Given the description of an element on the screen output the (x, y) to click on. 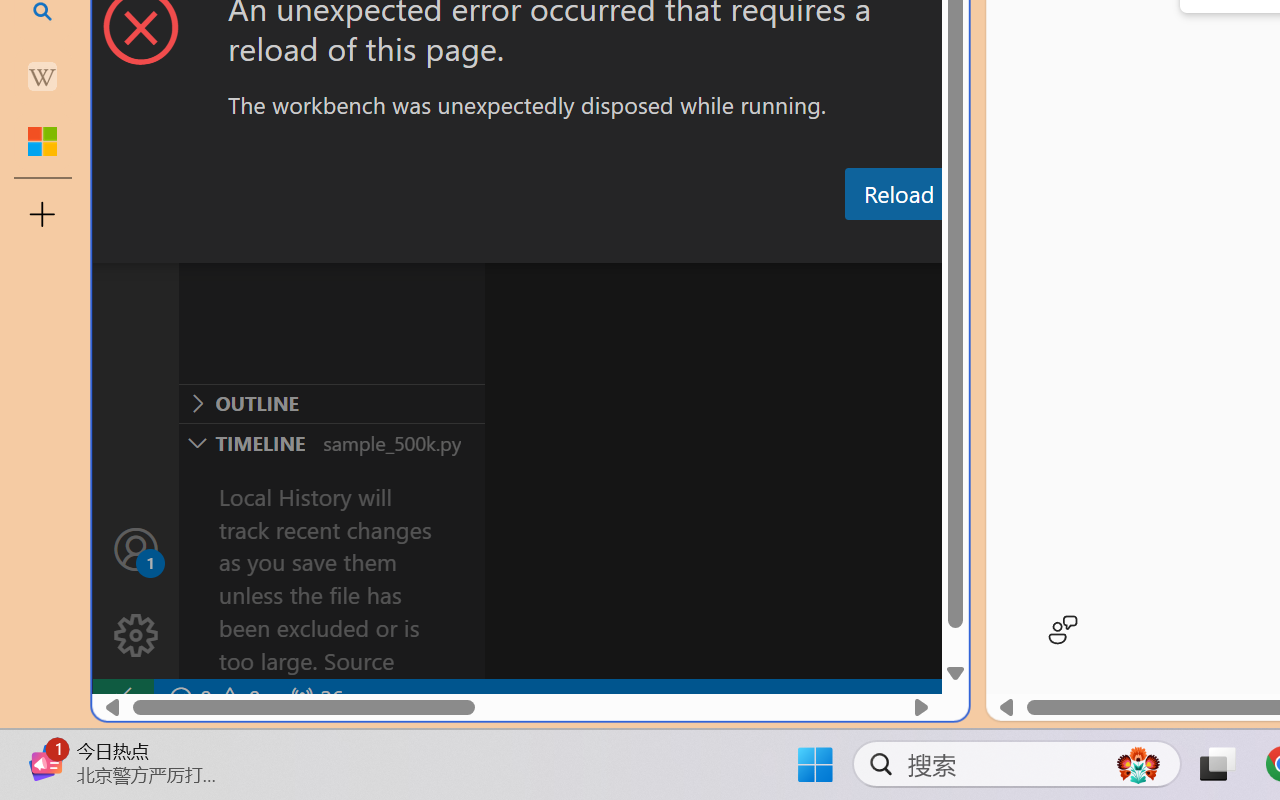
Reload (898, 193)
Problems (Ctrl+Shift+M) (567, 243)
